Given the description of an element on the screen output the (x, y) to click on. 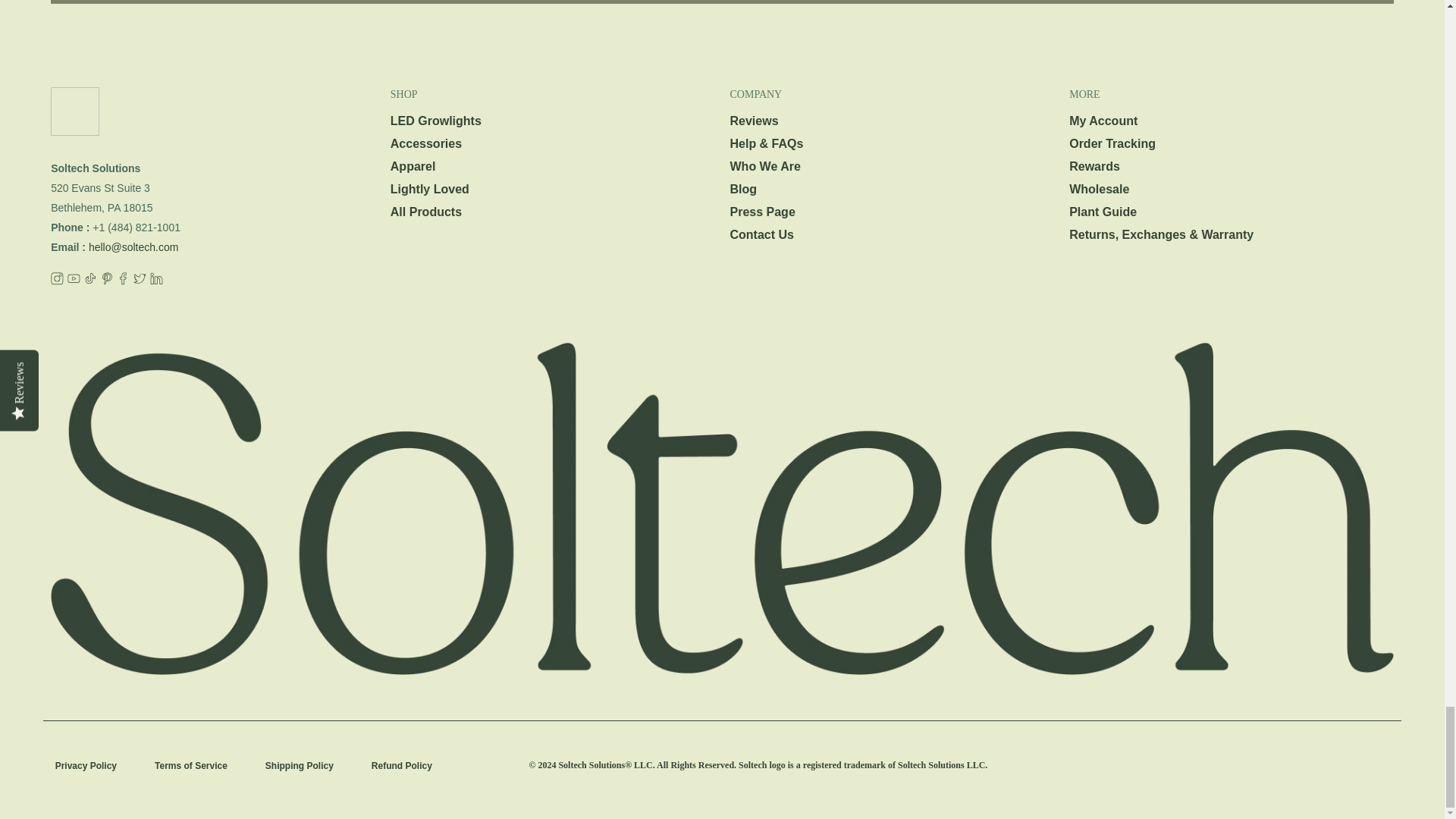
Soltech (148, 122)
Soltech on Instagram (57, 281)
Soltech on YouTube (73, 281)
Soltech on Tiktok (90, 281)
soltech email (133, 246)
Soltech on Pinterest (106, 281)
